Given the description of an element on the screen output the (x, y) to click on. 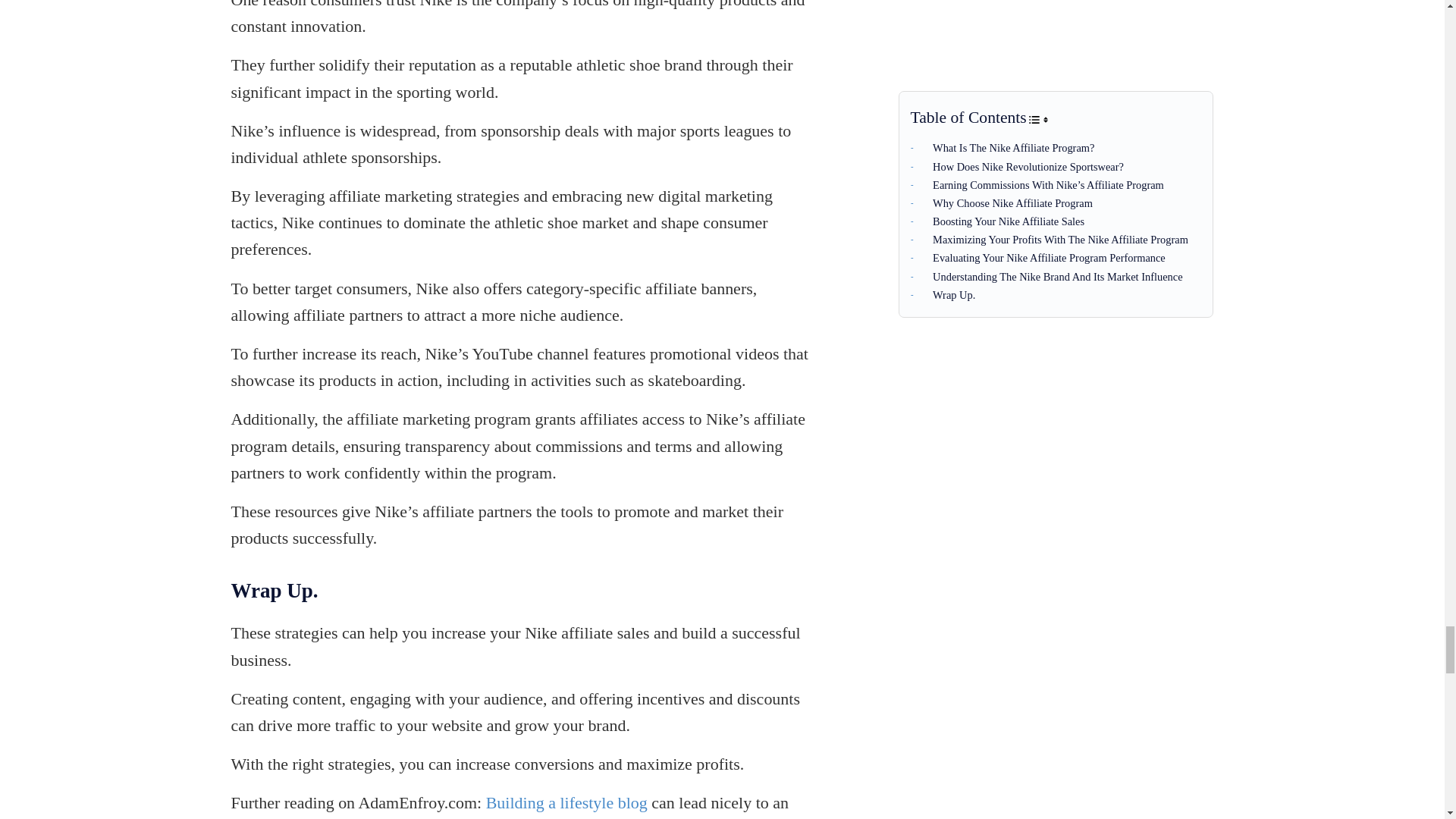
Building a lifestyle blog (566, 802)
